Given the description of an element on the screen output the (x, y) to click on. 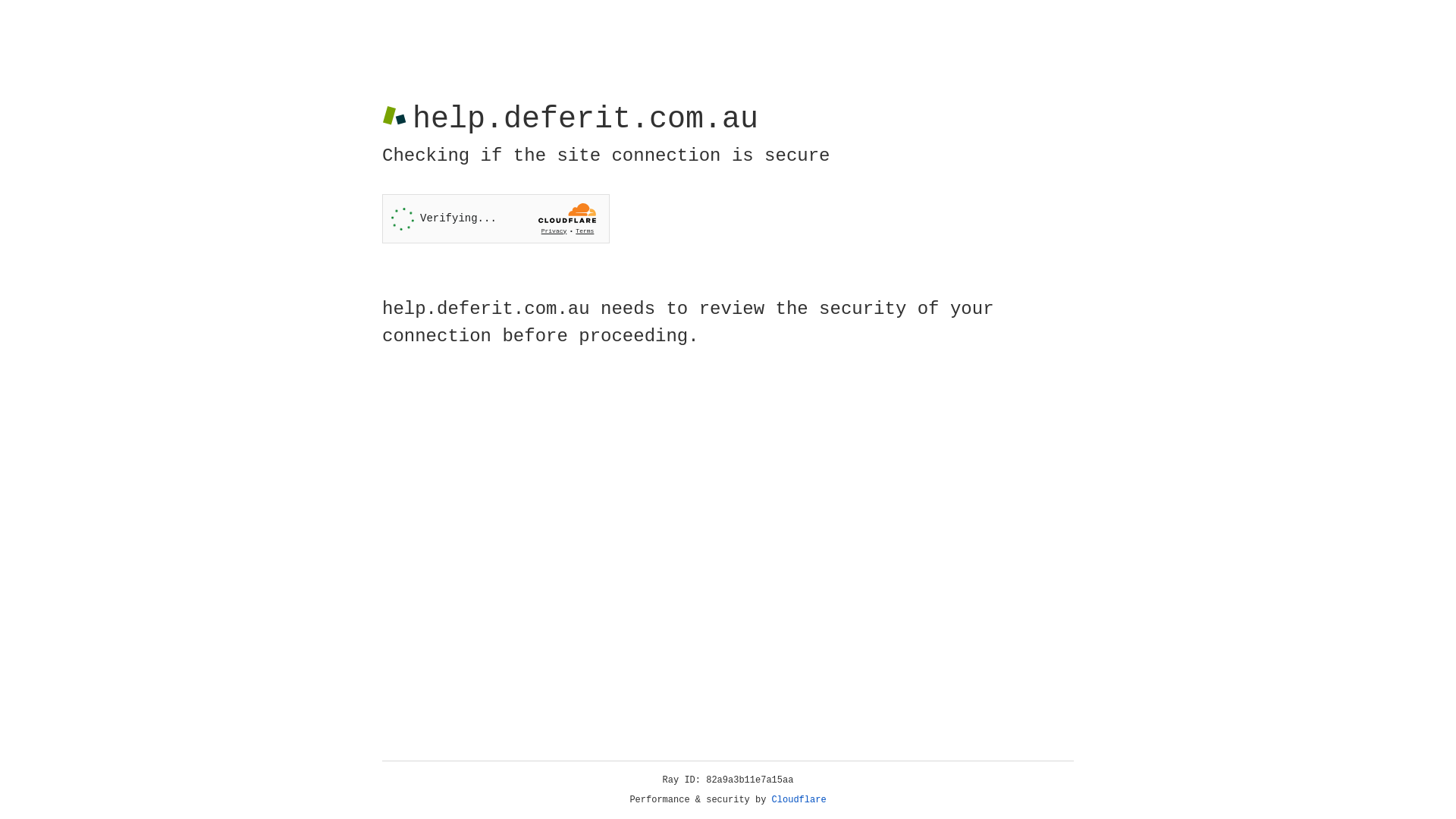
Widget containing a Cloudflare security challenge Element type: hover (495, 218)
Cloudflare Element type: text (798, 799)
